Given the description of an element on the screen output the (x, y) to click on. 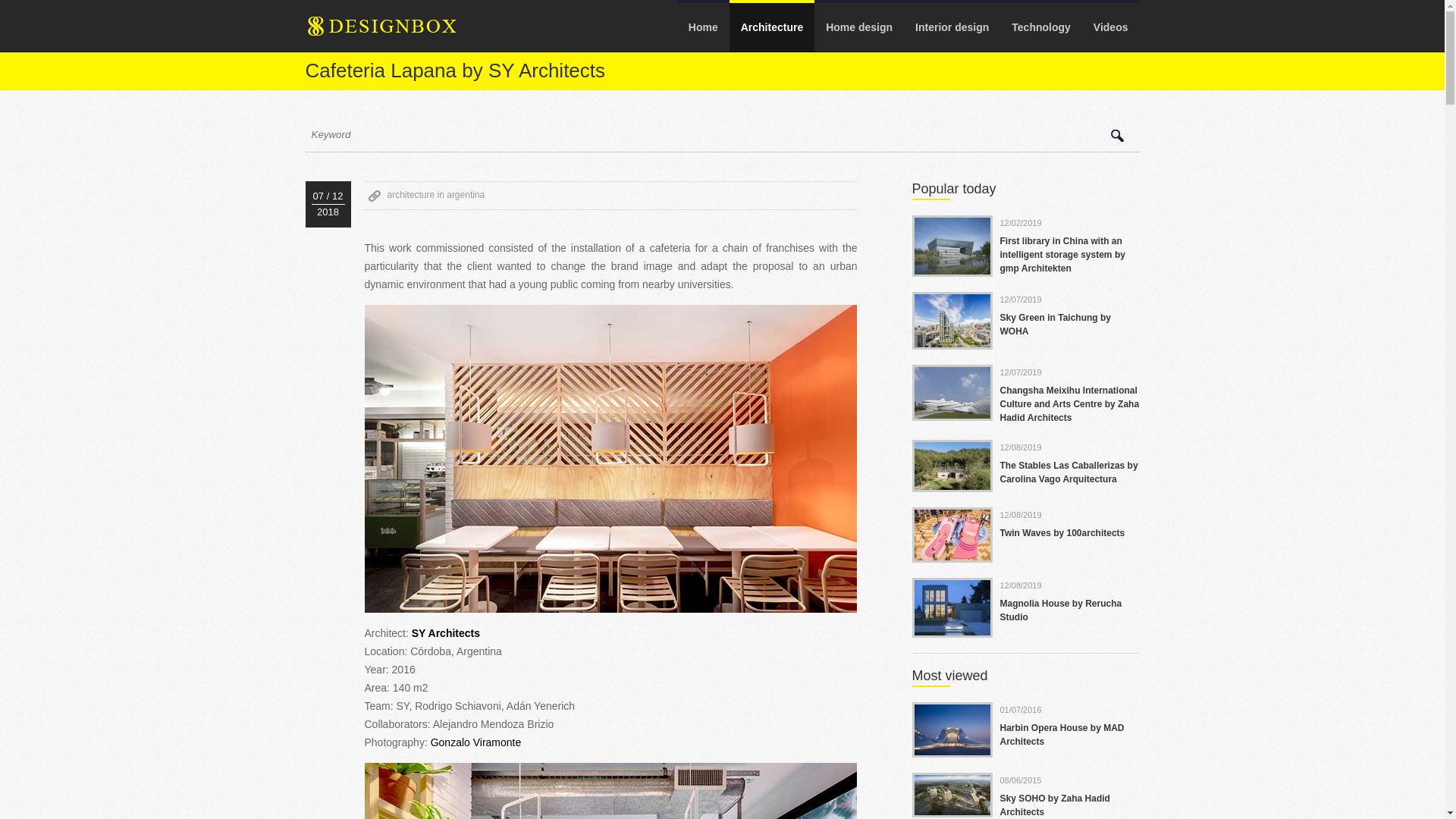
88DesignBox (394, 31)
Home (703, 27)
Home design (858, 27)
Gonzalo Viramonte (475, 742)
Technology (1040, 27)
Interior design (952, 27)
Home design (858, 27)
Architecture (771, 27)
SY Architects (446, 633)
Videos (1110, 27)
Interior design (952, 27)
architecture in argentina (435, 194)
Architecture (771, 27)
Home (703, 27)
